Given the description of an element on the screen output the (x, y) to click on. 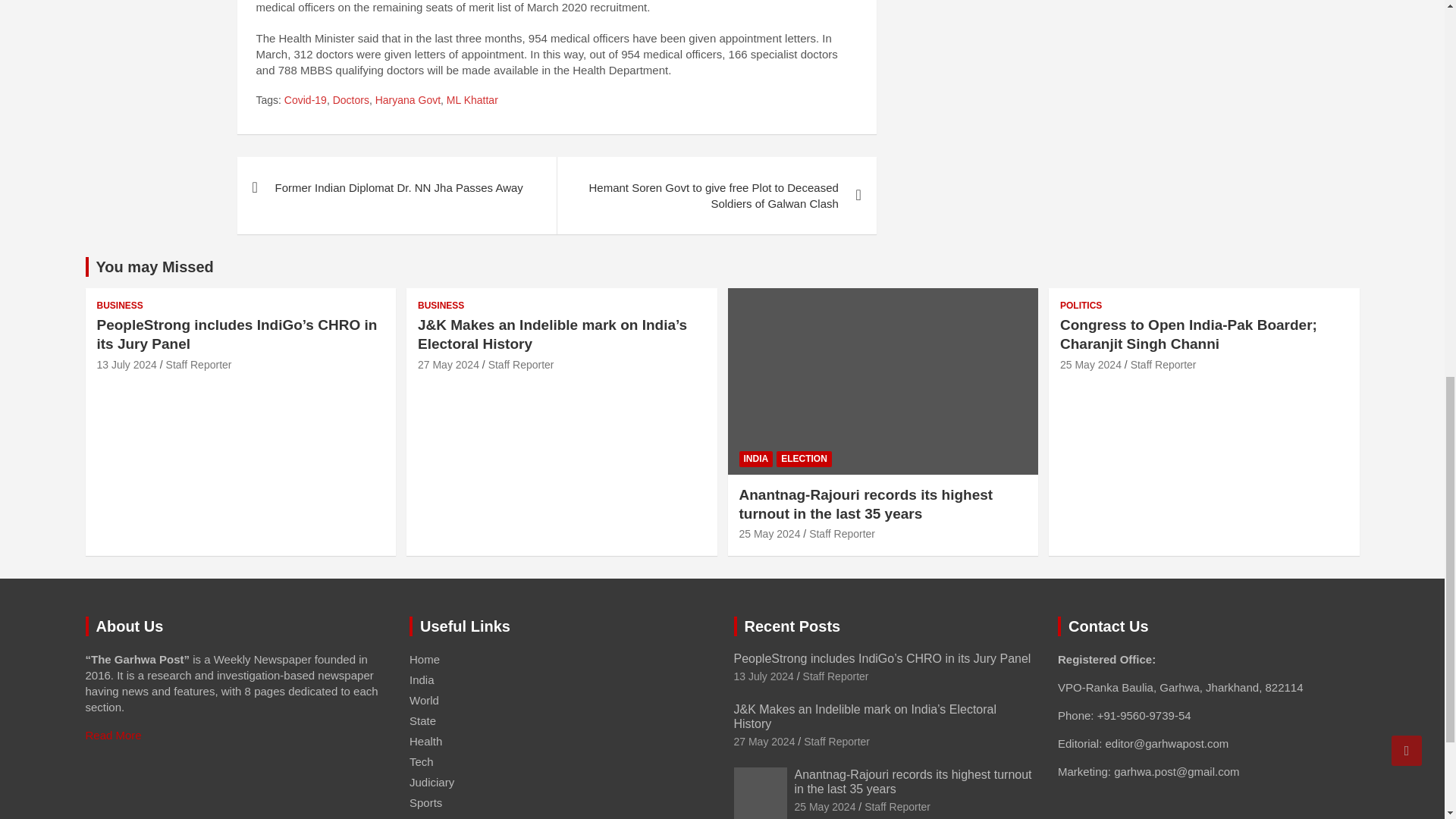
Haryana Govt (408, 100)
Doctors (351, 100)
Covid-19 (304, 100)
Congress to Open India-Pak Boarder; Charanjit Singh Channi (1090, 364)
ML Khattar (471, 100)
Former Indian Diplomat Dr. NN Jha Passes Away (395, 187)
